Given the description of an element on the screen output the (x, y) to click on. 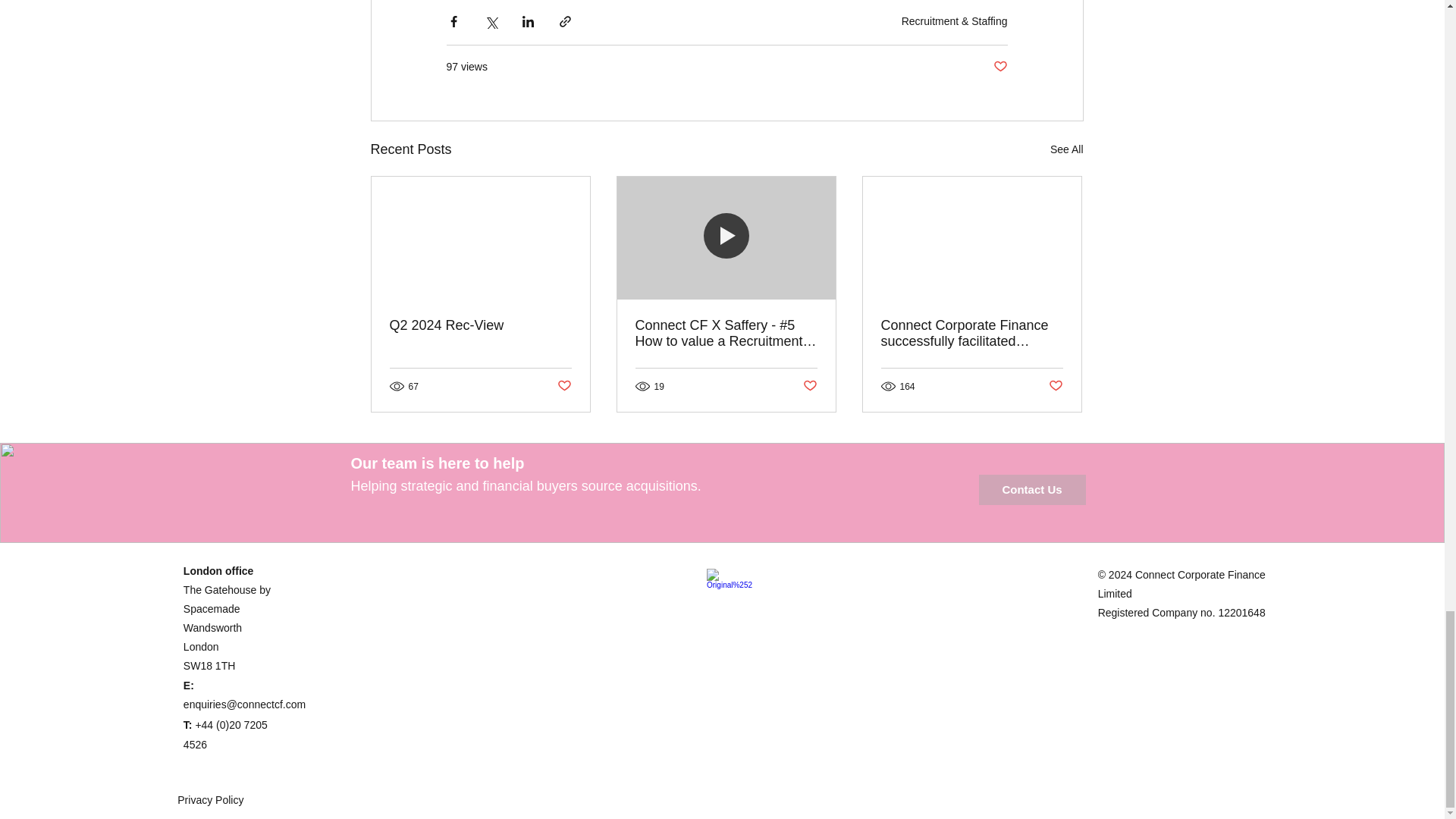
Q2 2024 Rec-View (481, 325)
Post not marked as liked (809, 385)
Contact Us (1031, 490)
Post not marked as liked (999, 66)
Post not marked as liked (1055, 385)
See All (1066, 149)
Post not marked as liked (563, 385)
